Given the description of an element on the screen output the (x, y) to click on. 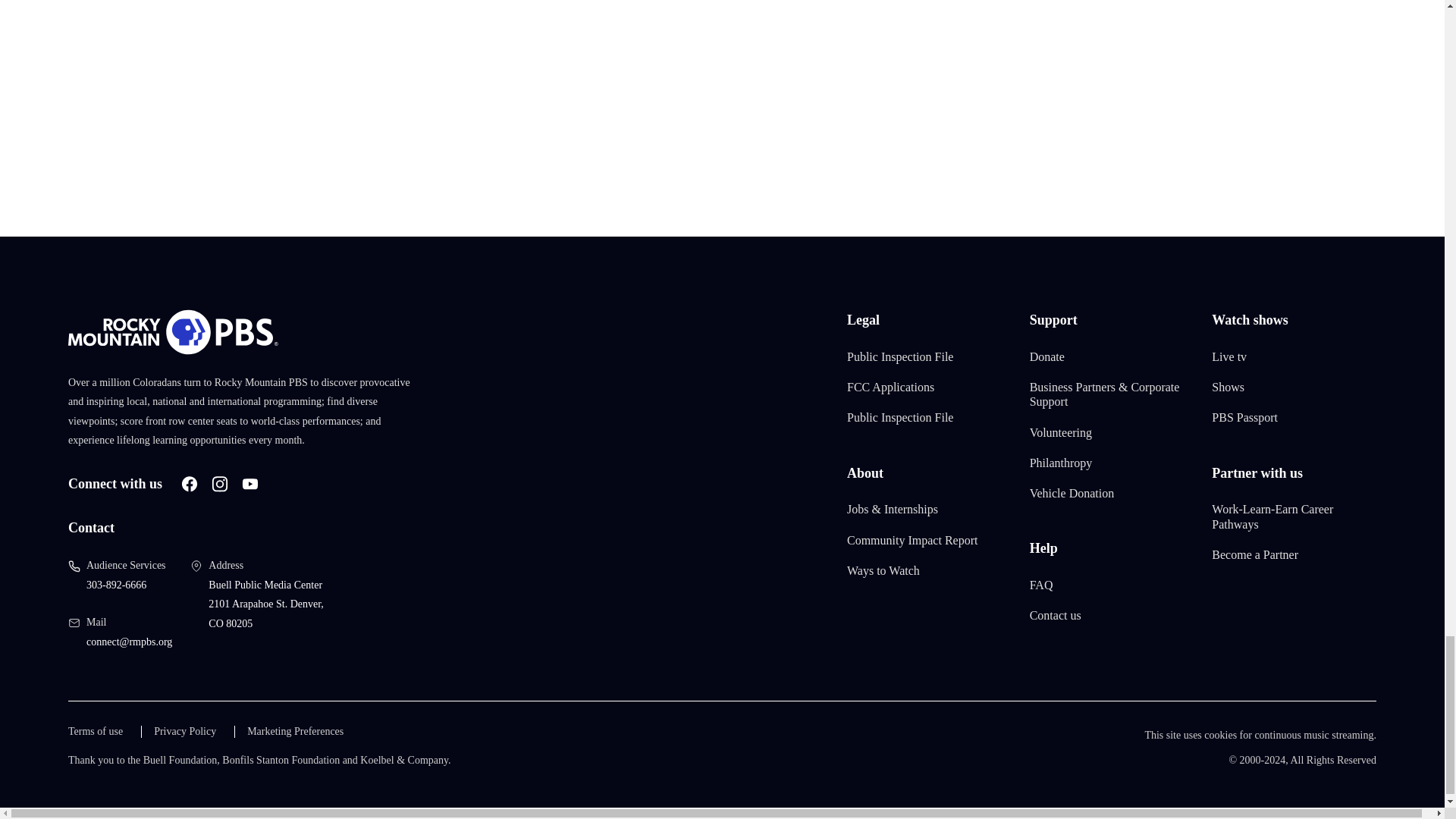
Donate (1046, 356)
PBS Passport (1244, 417)
Ways to Watch (883, 570)
Public Inspection File (900, 356)
Live tv (1228, 356)
Community Impact Report (911, 540)
Shows (1227, 387)
Philanthropy (1061, 462)
FAQ (1040, 585)
Contact us (1055, 615)
Vehicle Donation (1072, 493)
FCC Applications (890, 387)
303-892-6666 (116, 584)
Public Inspection File (900, 417)
